Given the description of an element on the screen output the (x, y) to click on. 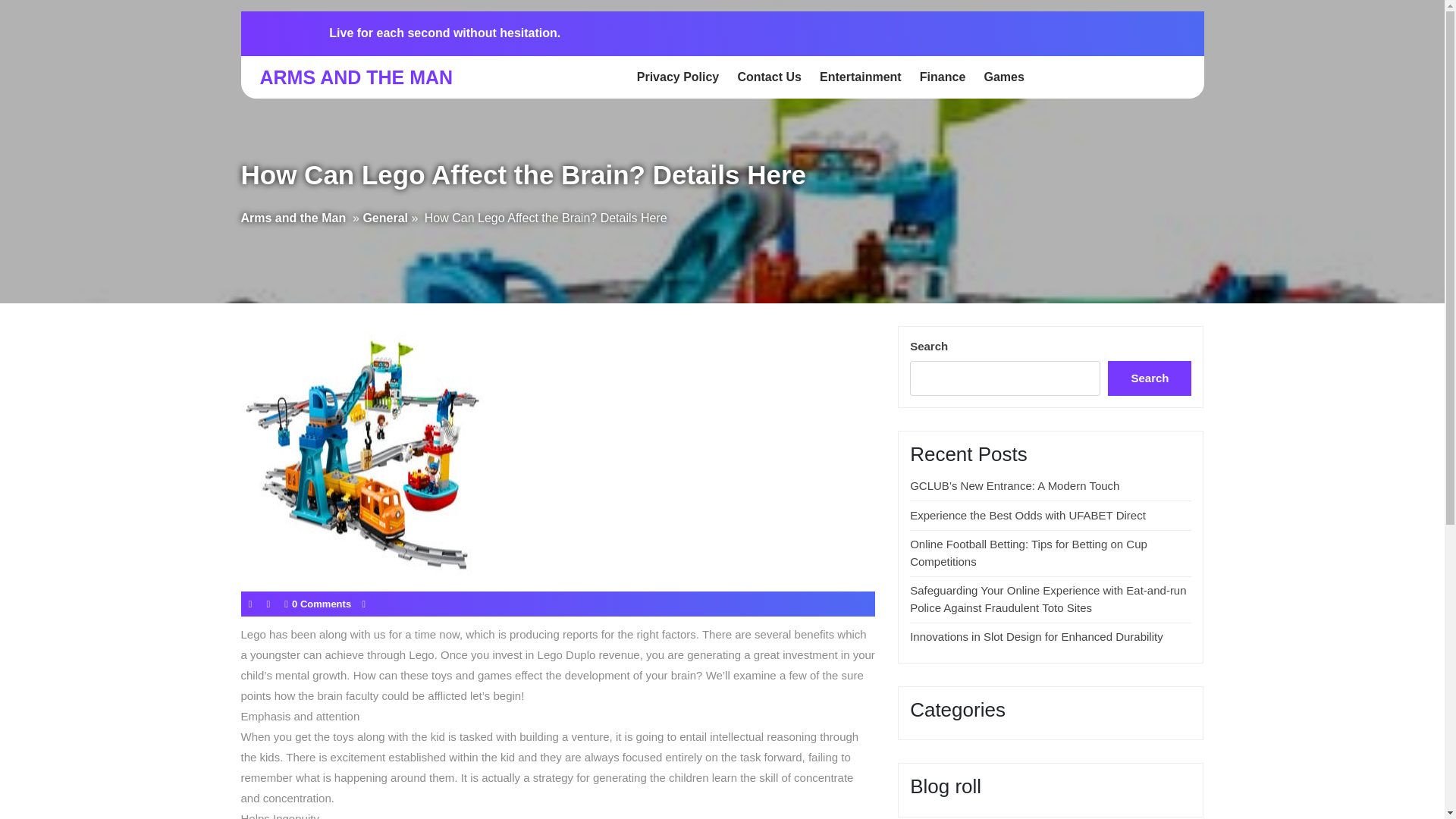
Experience the Best Odds with UFABET Direct (1027, 514)
Innovations in Slot Design for Enhanced Durability (1036, 635)
Finance (942, 77)
Contact Us (768, 77)
Entertainment (860, 77)
ARMS AND THE MAN (355, 76)
Search (1149, 378)
Arms and the Man (293, 218)
